Given the description of an element on the screen output the (x, y) to click on. 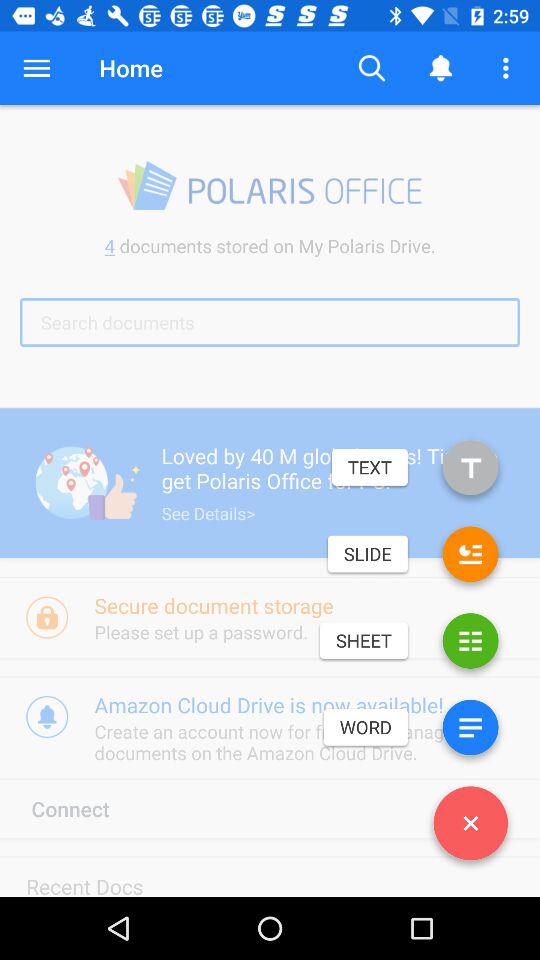
tap the button next to the home button (36, 68)
